Given the description of an element on the screen output the (x, y) to click on. 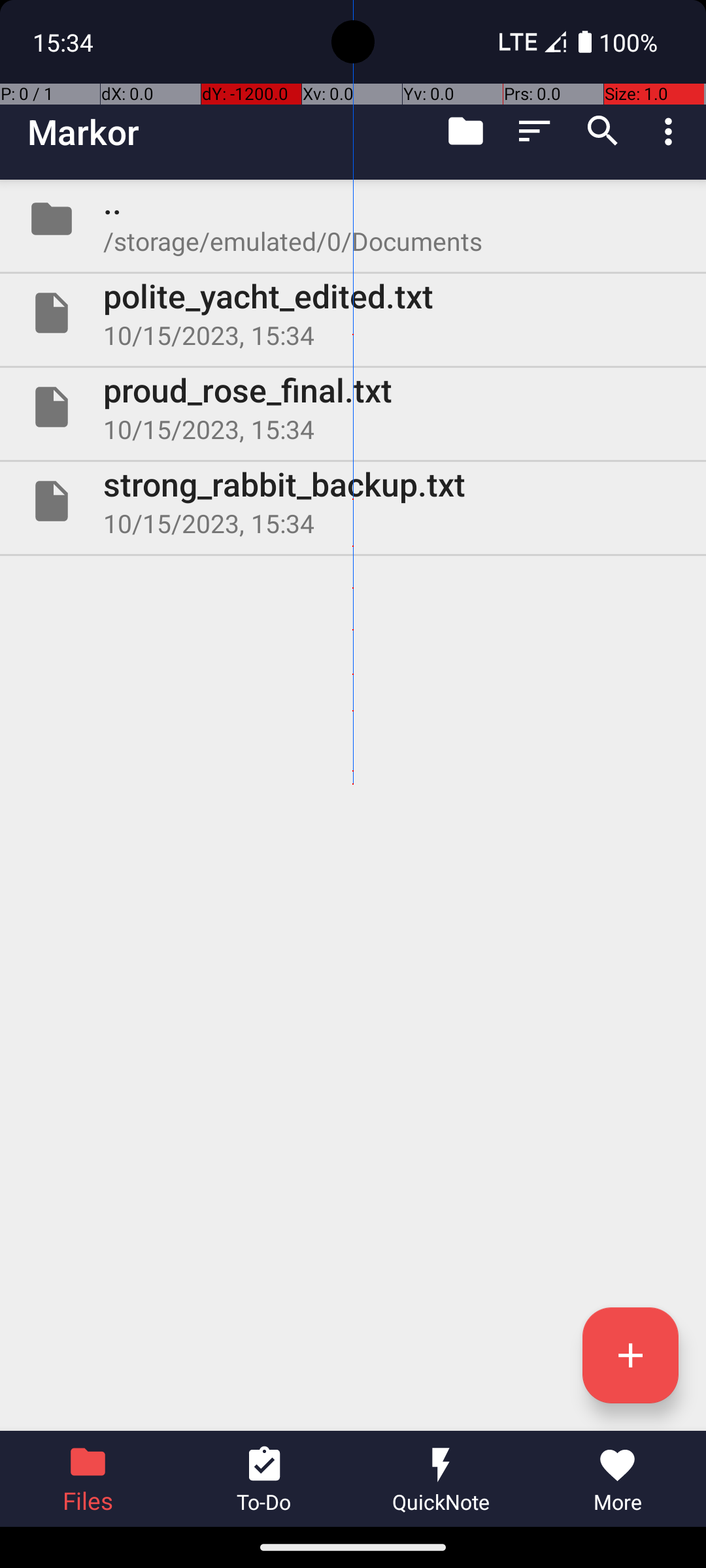
File polite_yacht_edited.txt  Element type: android.widget.LinearLayout (353, 312)
File proud_rose_final.txt  Element type: android.widget.LinearLayout (353, 406)
File strong_rabbit_backup.txt  Element type: android.widget.LinearLayout (353, 500)
